Given the description of an element on the screen output the (x, y) to click on. 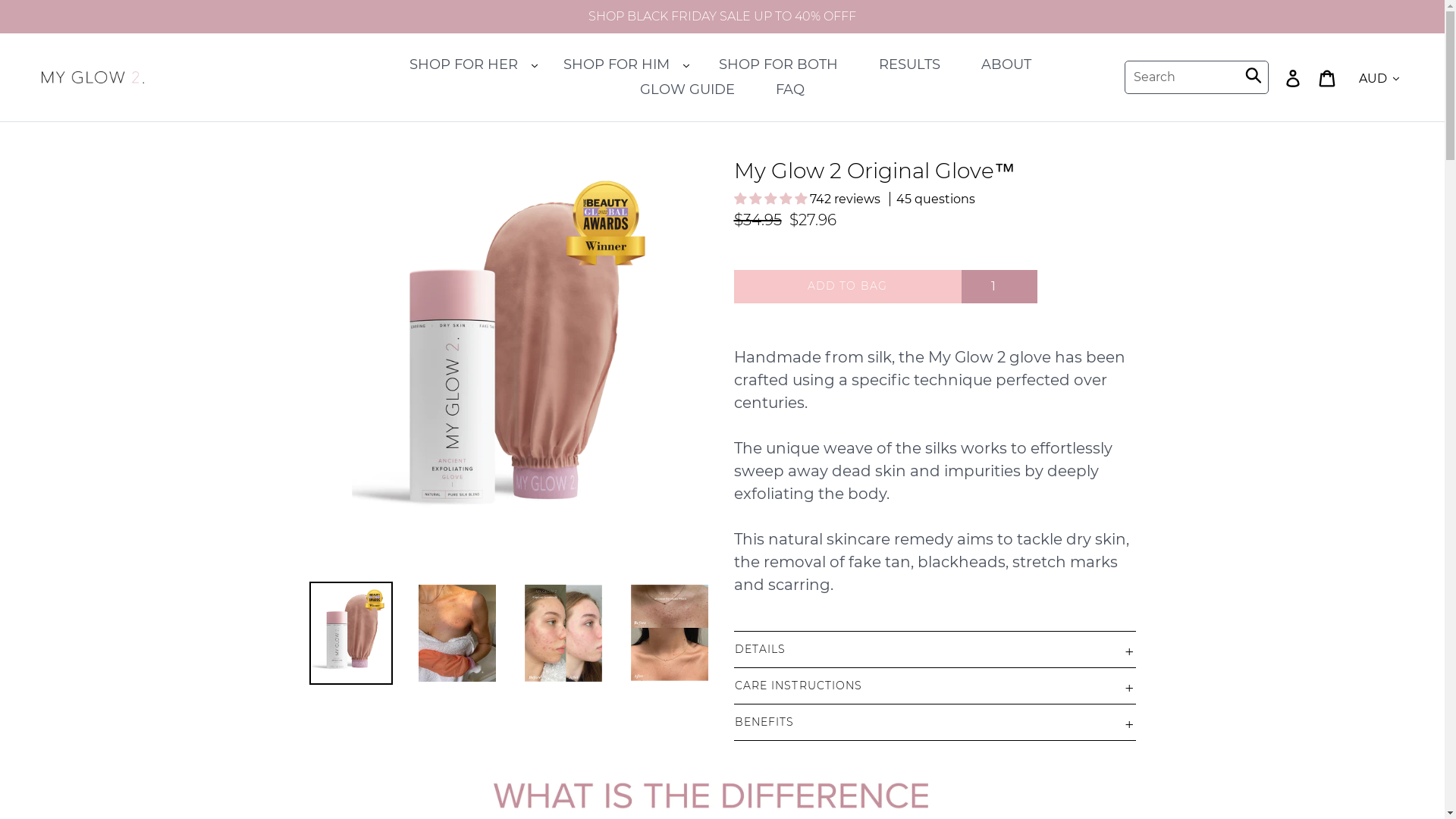
RESULTS Element type: text (909, 64)
DETAILS Element type: text (934, 649)
Cart Element type: text (1335, 76)
Log in Element type: text (1301, 76)
Submit Element type: text (1254, 74)
CARE INSTRUCTIONS Element type: text (934, 685)
GLOW GUIDE Element type: text (687, 89)
ABOUT Element type: text (1006, 64)
ADD TO BAG Element type: text (847, 286)
BENEFITS Element type: text (934, 722)
SHOP BLACK FRIDAY SALE UP TO 40% OFFF Element type: text (722, 16)
SHOP FOR BOTH Element type: text (777, 64)
FAQ Element type: text (789, 89)
